Given the description of an element on the screen output the (x, y) to click on. 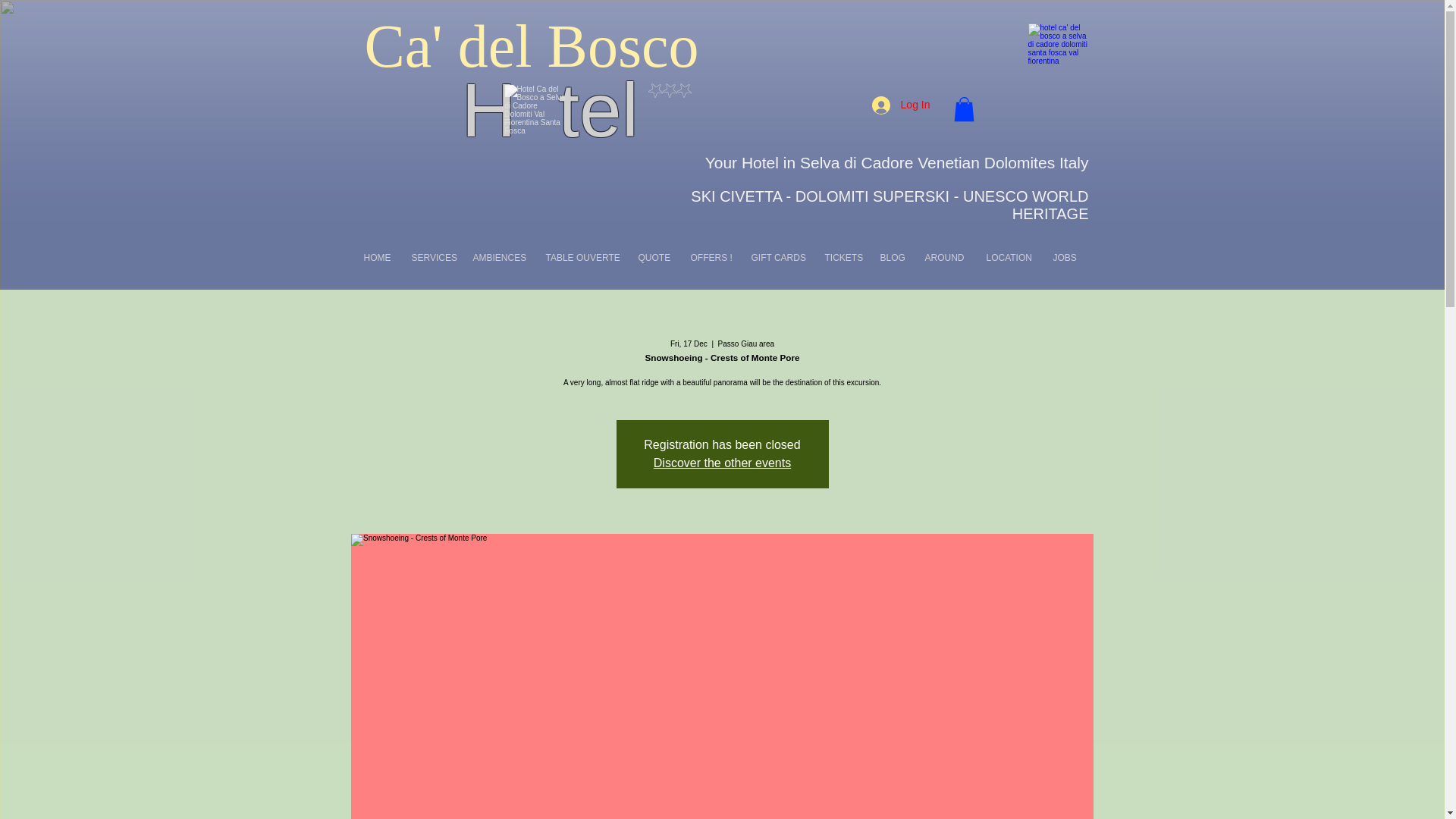
Hotel Ca' del Bosco offers hospitality since 2001 (1058, 56)
Log In (900, 103)
TABLE OUVERTE (584, 258)
GIFT CARDS (779, 258)
BLOG (894, 258)
HOME (380, 258)
Discover the other events (721, 462)
TICKETS (844, 258)
OFFERS ! (712, 258)
QUOTE (656, 258)
